Given the description of an element on the screen output the (x, y) to click on. 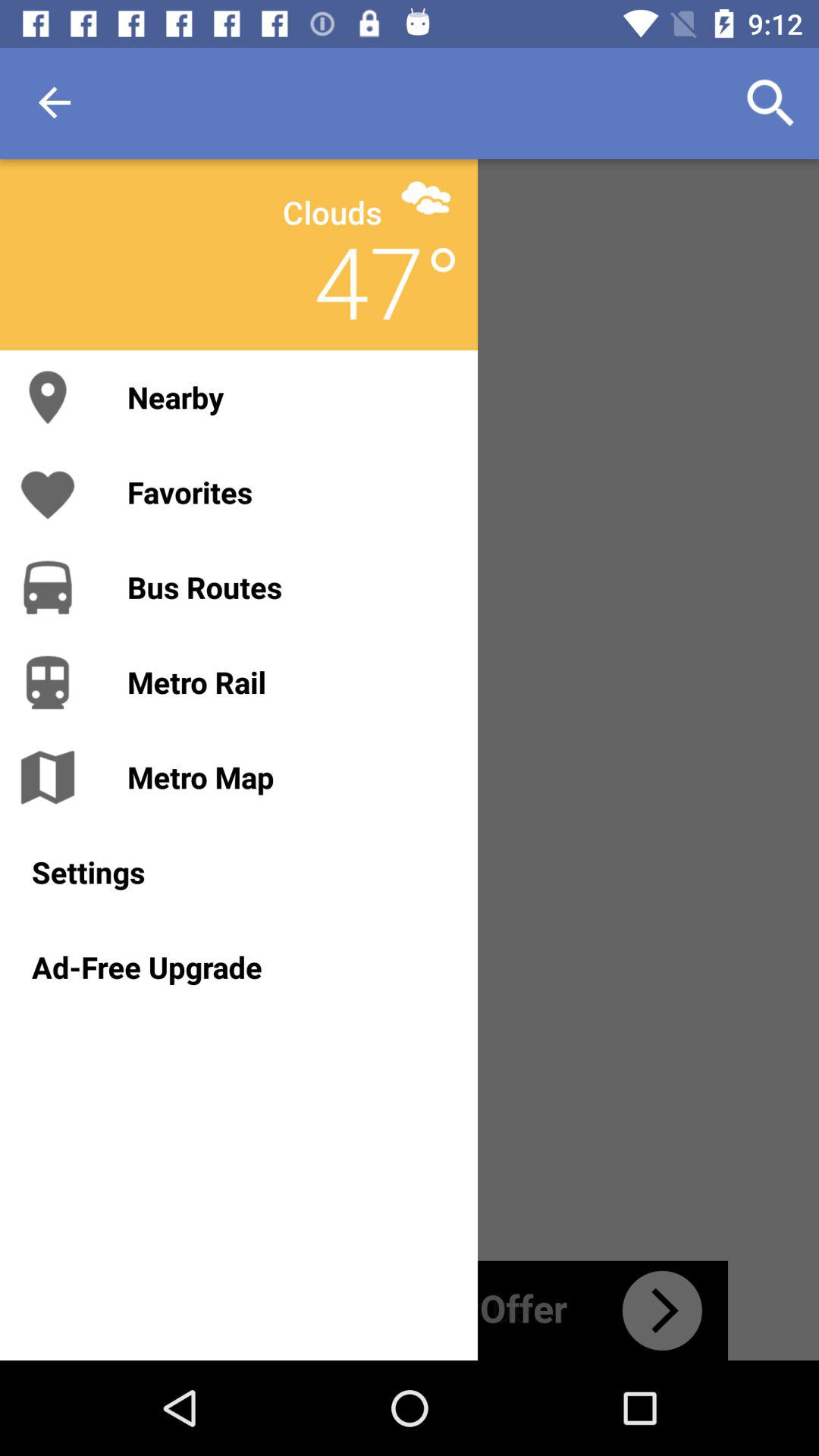
go to offer (409, 1310)
